Given the description of an element on the screen output the (x, y) to click on. 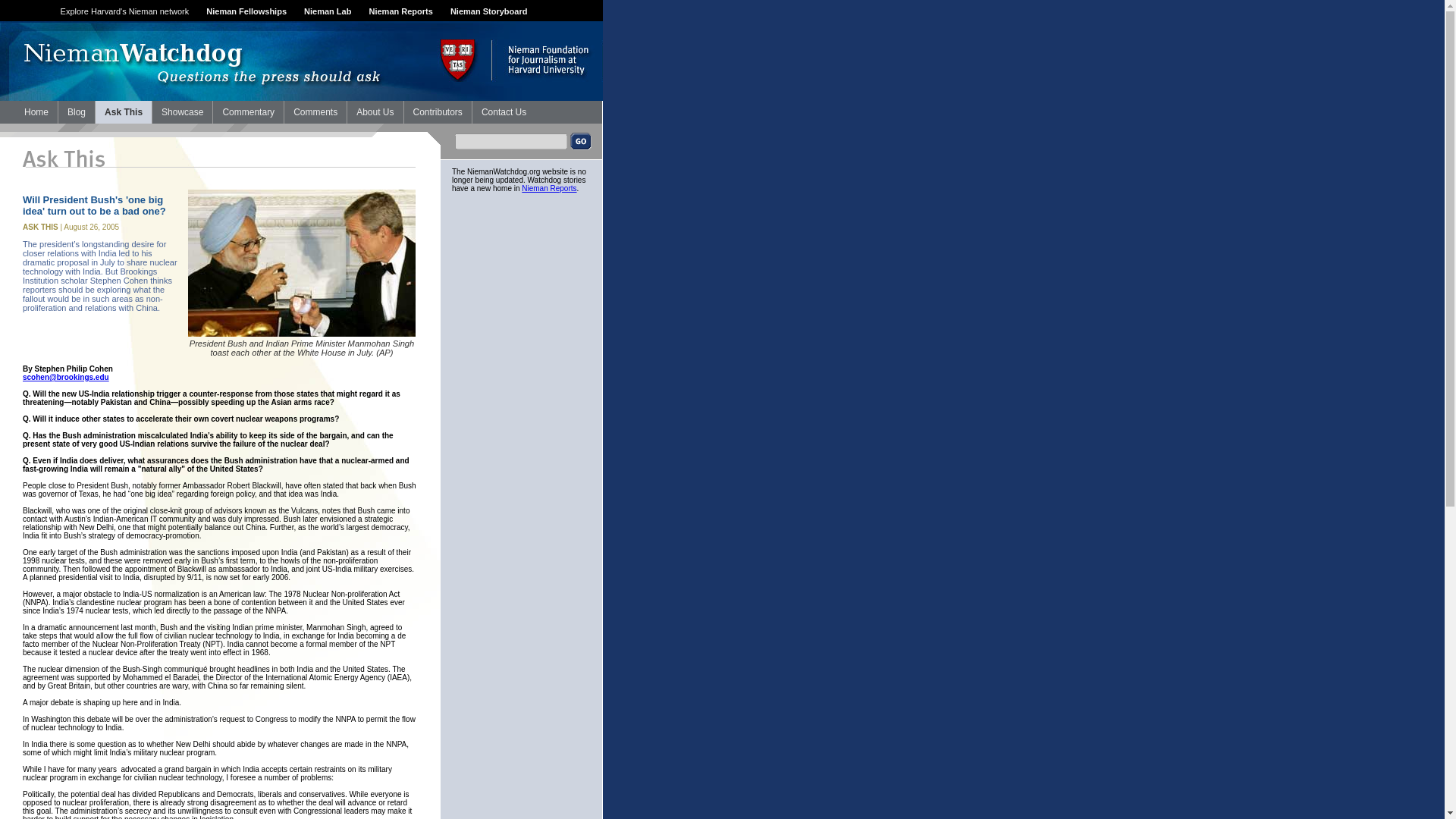
Nieman Lab (327, 10)
Nieman Fellowships (246, 10)
Nieman Storyboard (488, 10)
Nieman Reports (400, 10)
Comments (314, 112)
Blog (76, 112)
Contributors (436, 112)
Showcase (182, 112)
Nieman Reports (548, 188)
Home (36, 112)
Explore Harvard's Nieman network (125, 10)
About Us (375, 112)
Contact Us (503, 112)
Ask This (123, 112)
Commentary (247, 112)
